Given the description of an element on the screen output the (x, y) to click on. 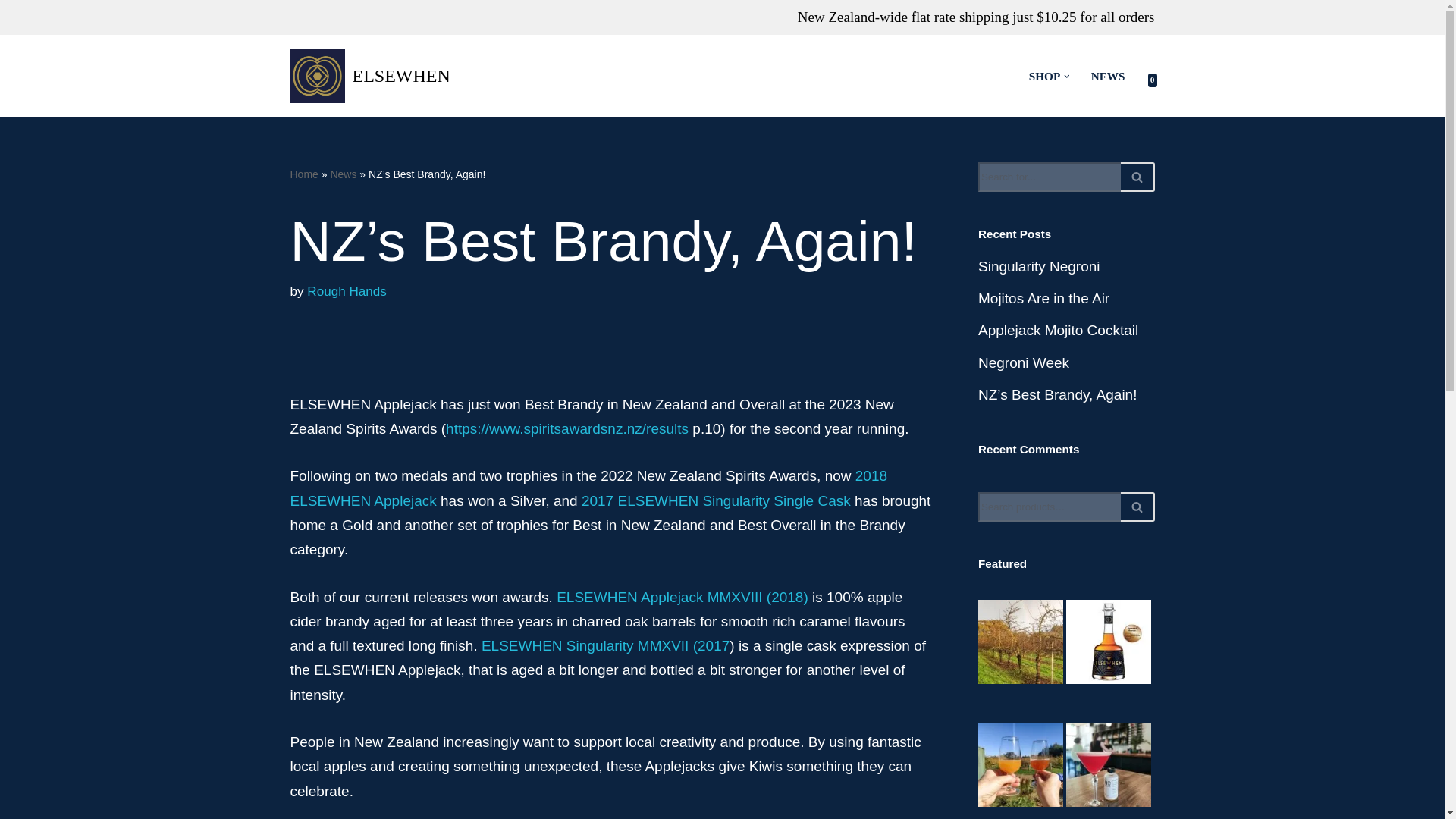
News (343, 174)
Mojitos Are in the Air (1043, 298)
Negroni Week (1023, 362)
SHOP (1044, 75)
2018 ELSEWHEN Applejack (587, 487)
Home (303, 174)
Posts by Rough Hands (347, 291)
2017 ELSEWHEN Singularity Single Cask (715, 500)
Rough Hands (347, 291)
0 (1141, 75)
